Given the description of an element on the screen output the (x, y) to click on. 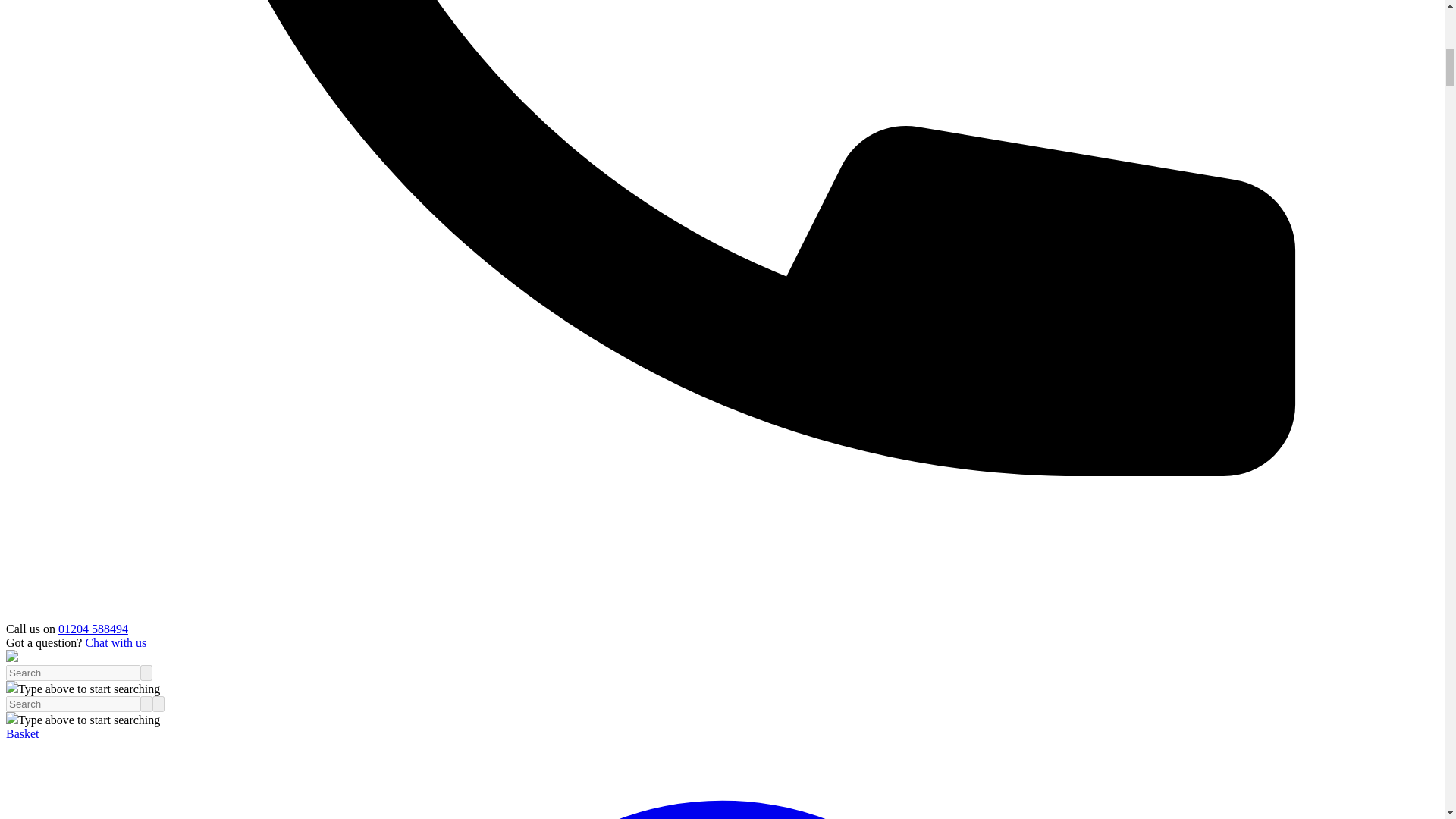
Chat with us (115, 642)
01204 588494 (93, 628)
